Given the description of an element on the screen output the (x, y) to click on. 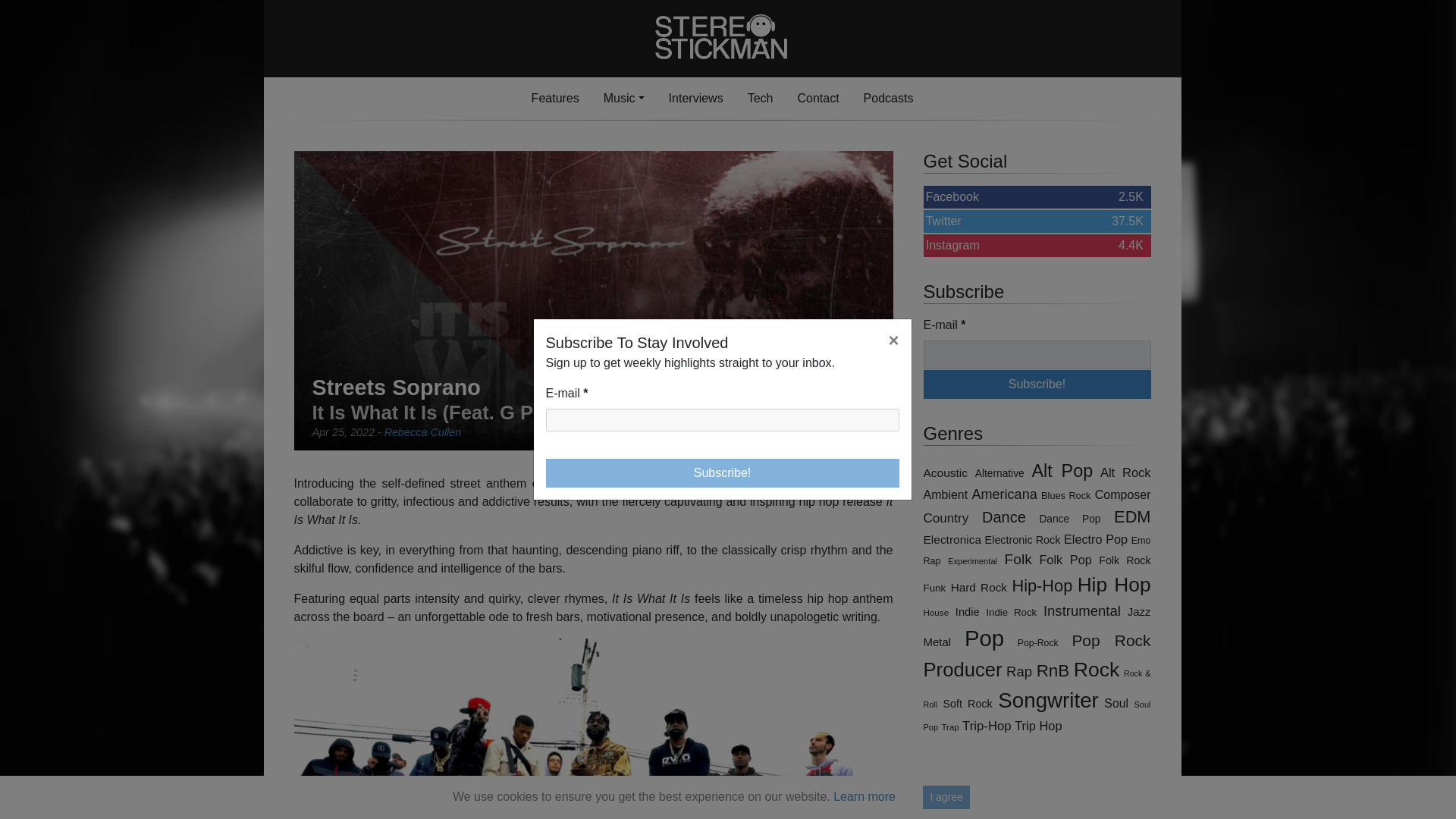
Interviews (695, 98)
Music (1037, 196)
Contact (623, 98)
Music (817, 98)
Subscribe! (623, 98)
E-mail (722, 472)
Features (722, 419)
Tech (1037, 220)
Rebecca Cullen (555, 98)
Subscribe! (760, 98)
Interviews (422, 431)
Features (1037, 384)
Podcasts (695, 98)
